Given the description of an element on the screen output the (x, y) to click on. 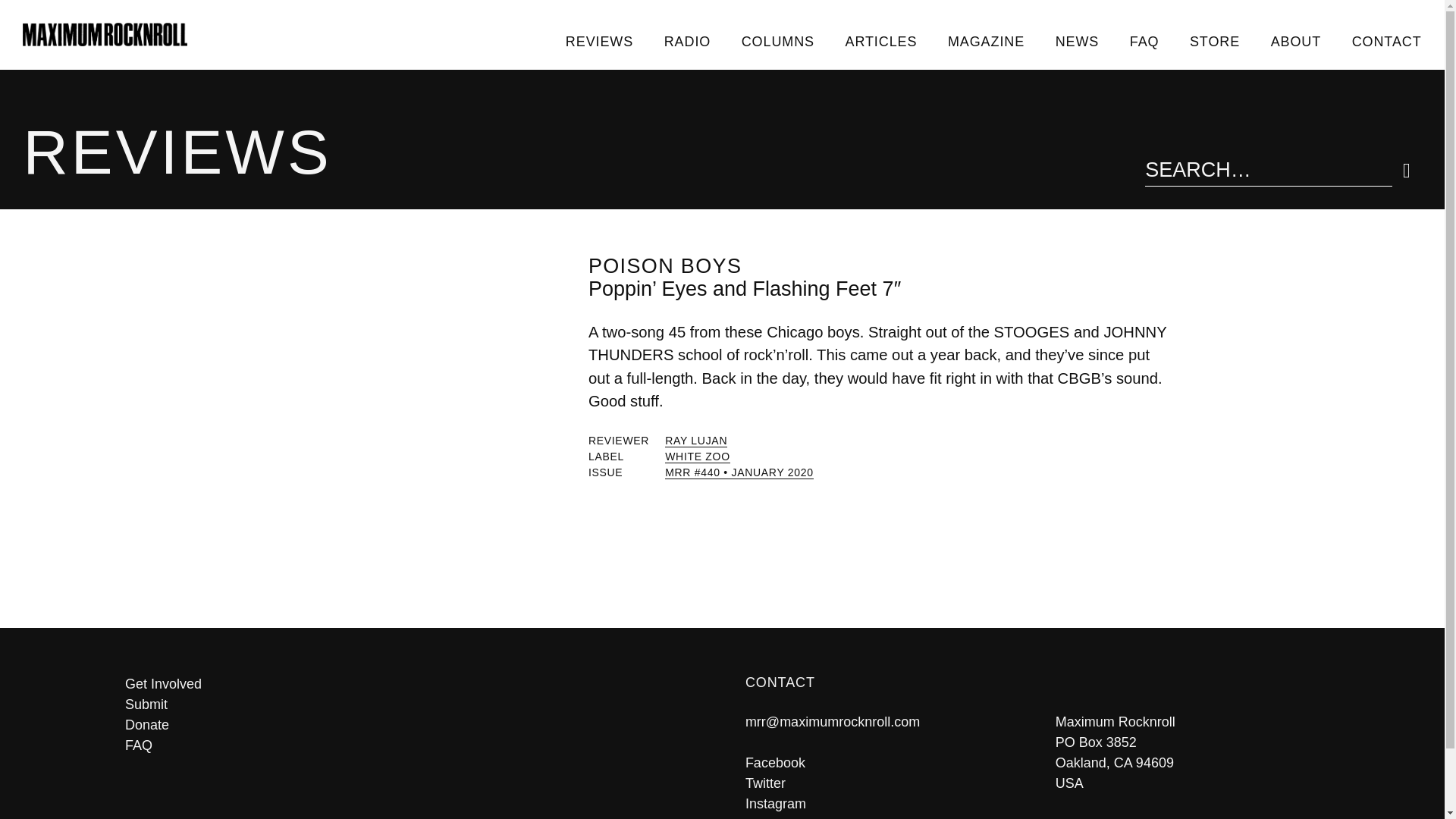
Donate (411, 724)
RAY LUJAN (695, 440)
FAQ (411, 745)
MAGAZINE (987, 41)
RADIO (686, 41)
Twitter (765, 783)
FAQ (1143, 41)
STORE (1214, 41)
NEWS (1076, 41)
POISON BOYS (664, 265)
